Given the description of an element on the screen output the (x, y) to click on. 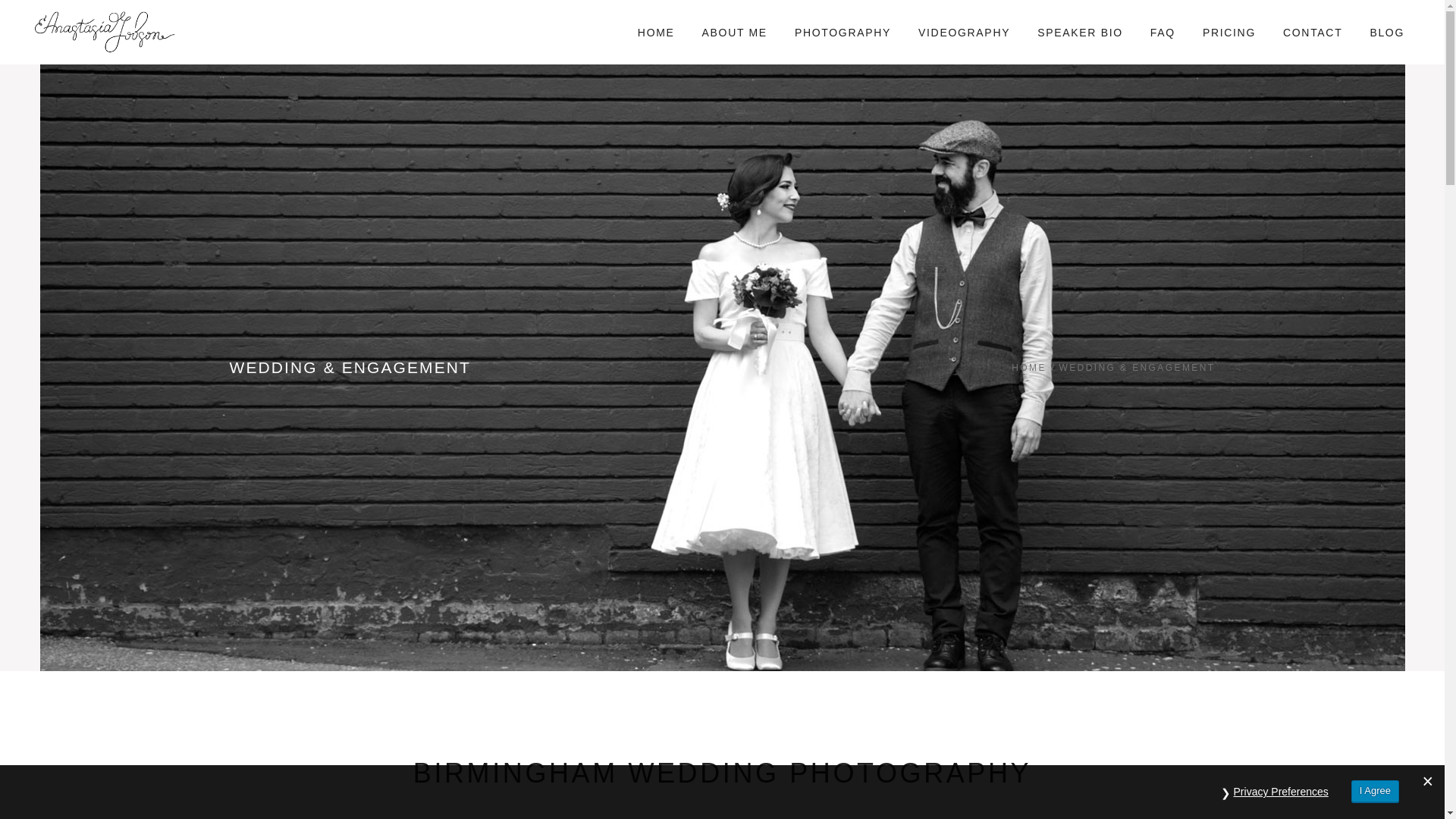
HOME (656, 32)
BLOG (1386, 32)
ABOUT ME (734, 32)
SPEAKER BIO (1080, 32)
CONTACT (1312, 32)
PHOTOGRAPHY (842, 32)
VIDEOGRAPHY (963, 32)
PRICING (1229, 32)
